Given the description of an element on the screen output the (x, y) to click on. 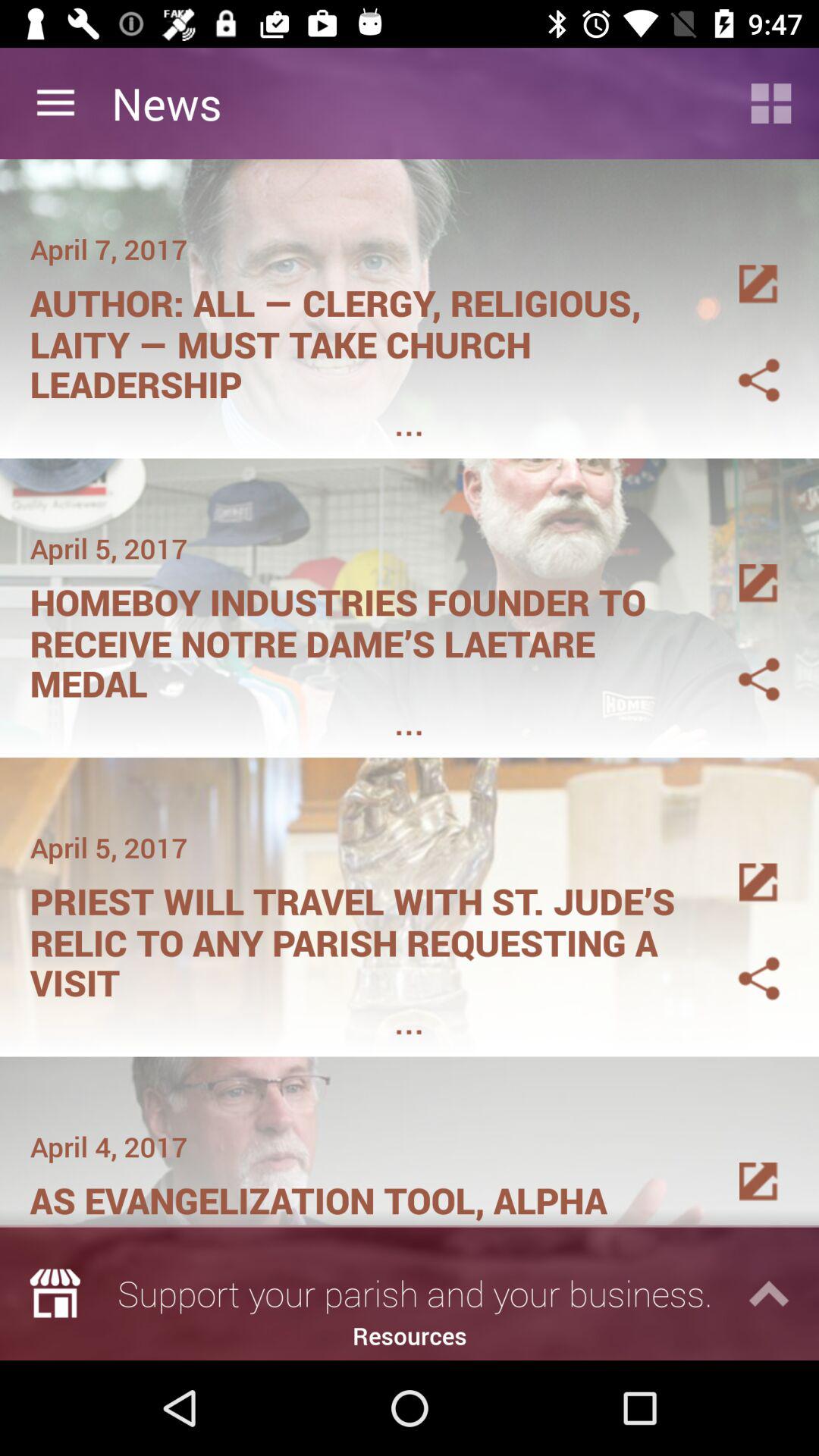
press priest will travel item (361, 937)
